Given the description of an element on the screen output the (x, y) to click on. 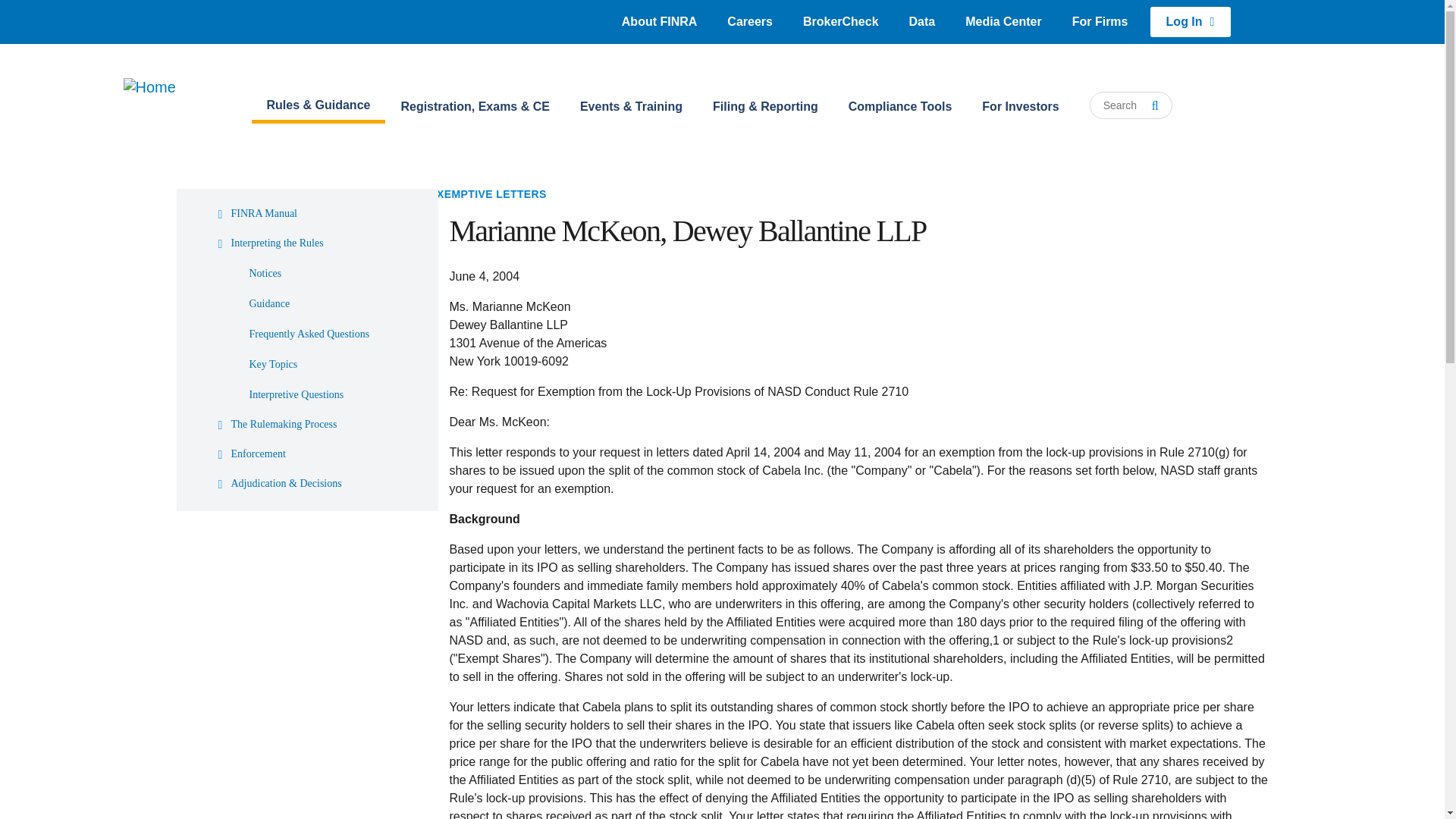
Media Center (1002, 21)
Careers (749, 21)
For Firms (1100, 21)
About FINRA (659, 21)
Data (922, 21)
Home (165, 104)
BrokerCheck (840, 21)
